Given the description of an element on the screen output the (x, y) to click on. 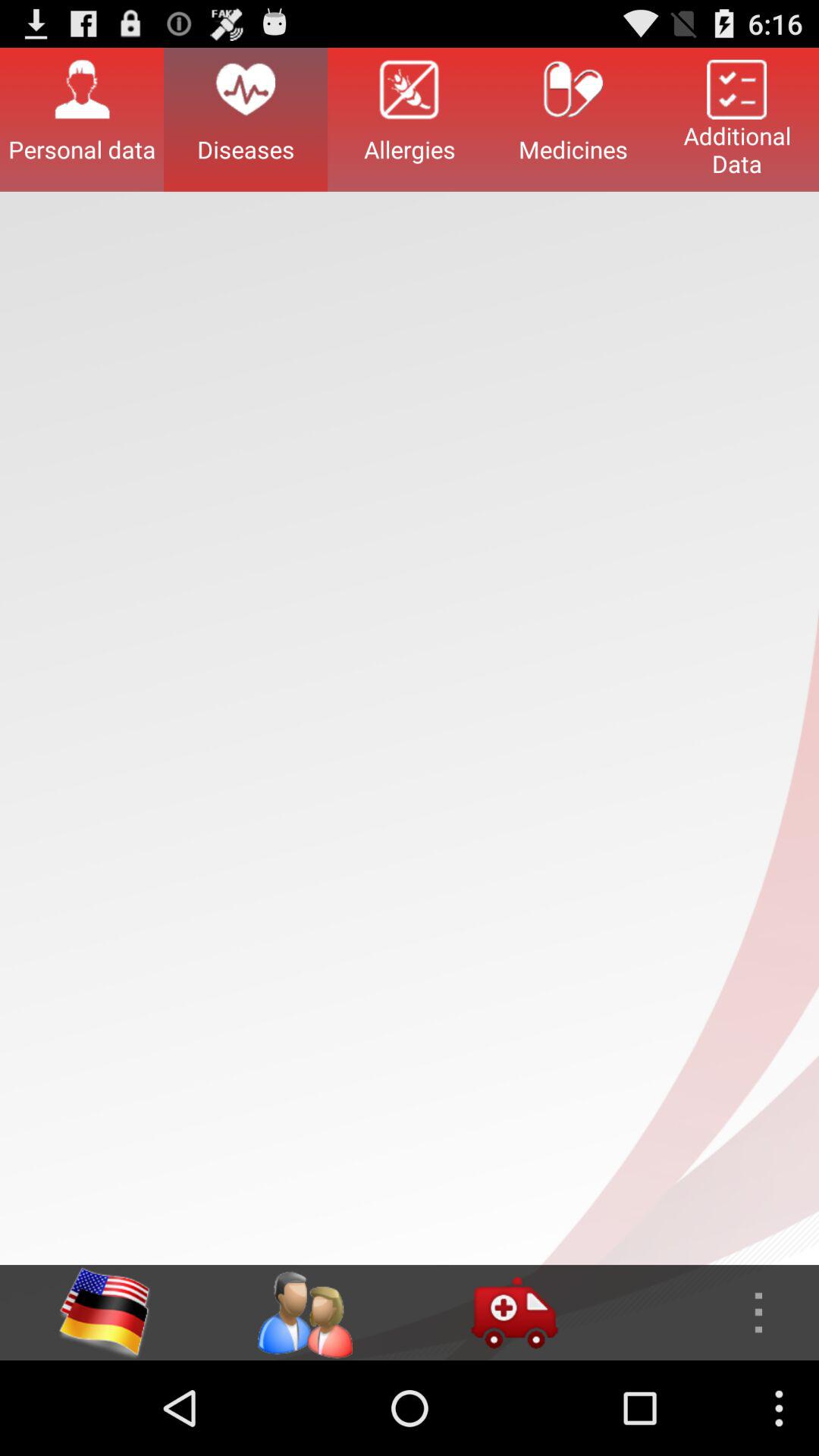
turn off button next to medicines (409, 119)
